Given the description of an element on the screen output the (x, y) to click on. 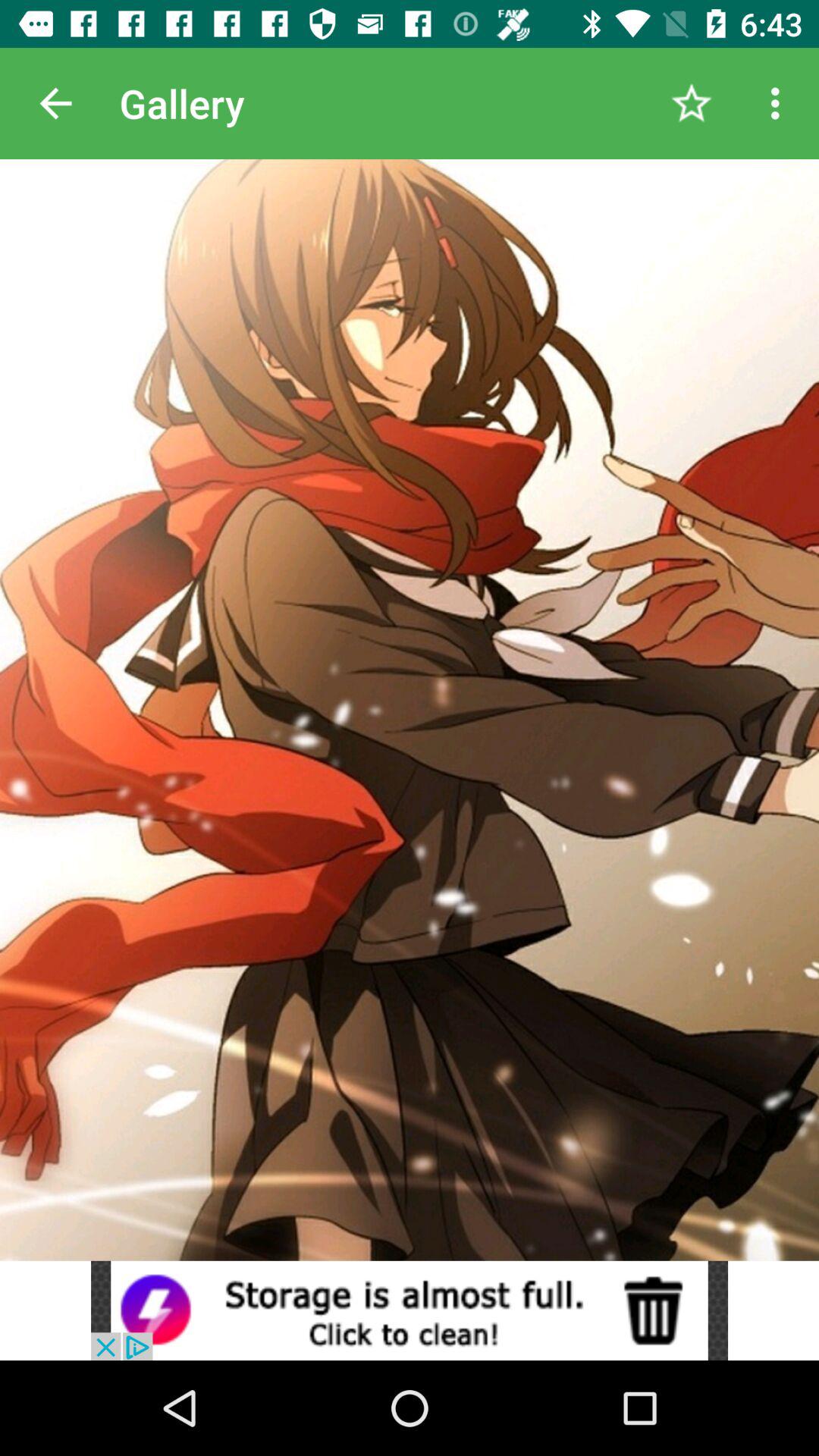
go to advertisement page (409, 1310)
